Given the description of an element on the screen output the (x, y) to click on. 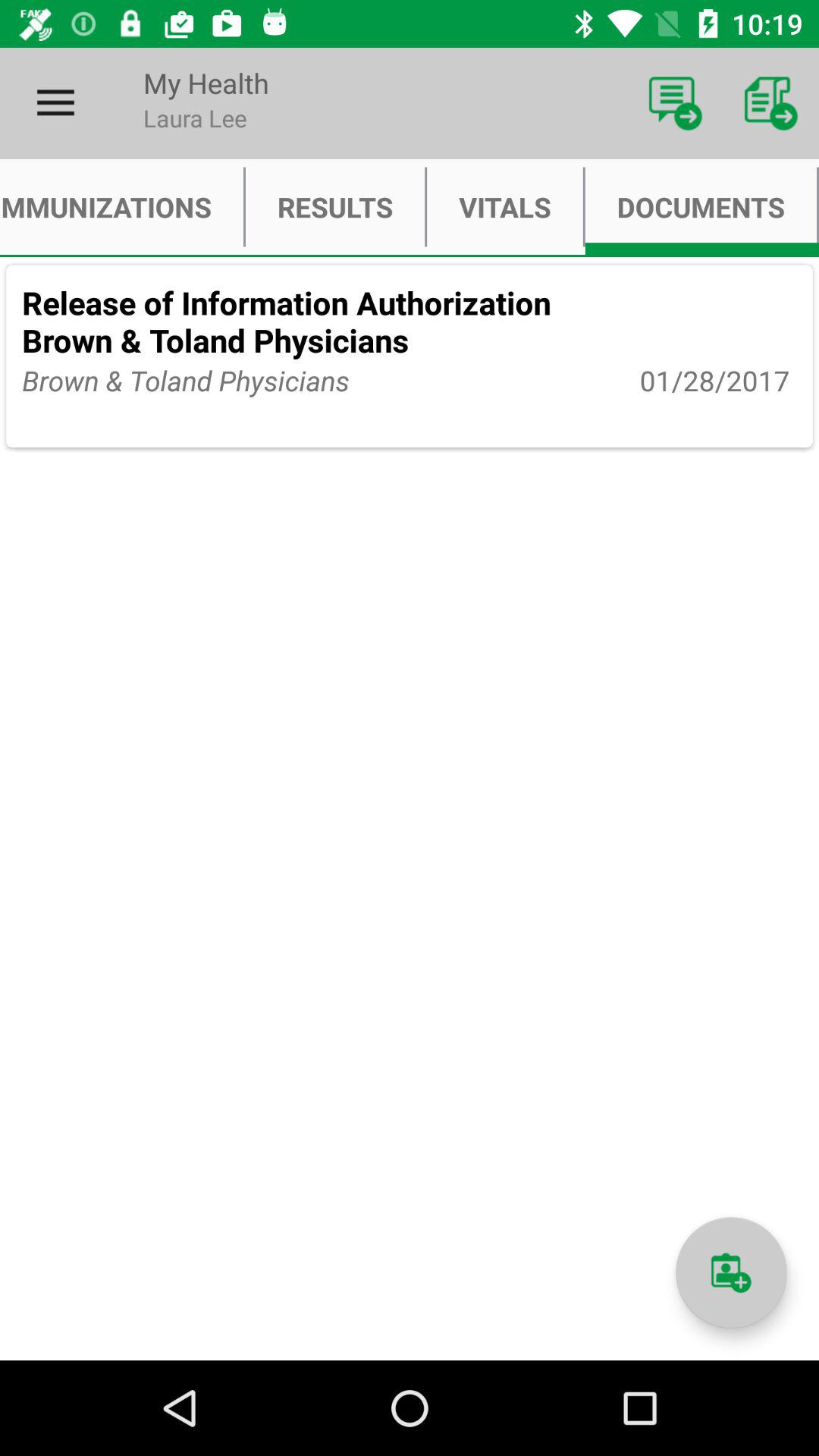
add a document (731, 1272)
